Given the description of an element on the screen output the (x, y) to click on. 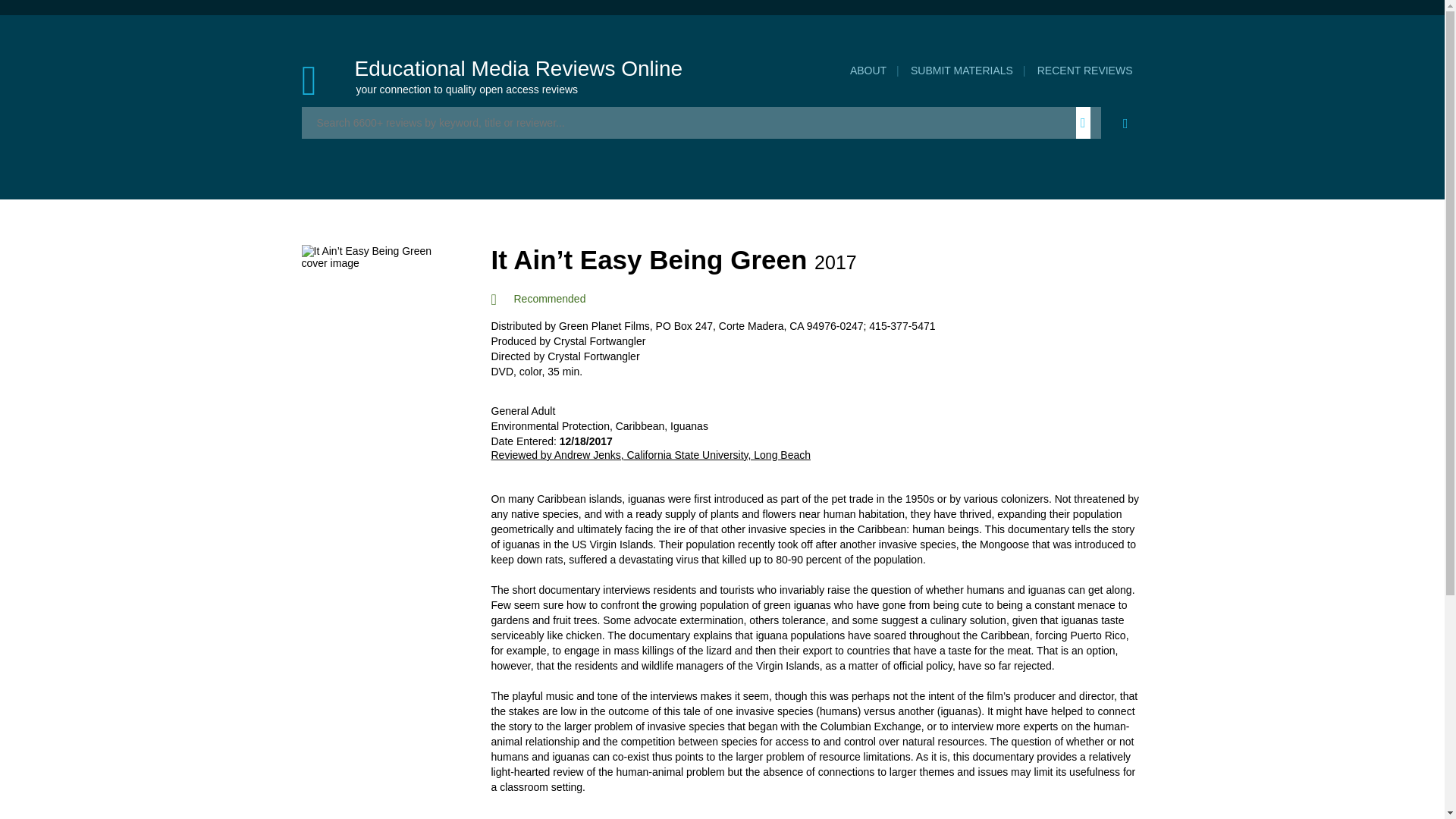
Advanced Search (1125, 123)
SUBMIT MATERIALS (962, 70)
RECENT REVIEWS (1084, 70)
ABOUT (868, 70)
